Given the description of an element on the screen output the (x, y) to click on. 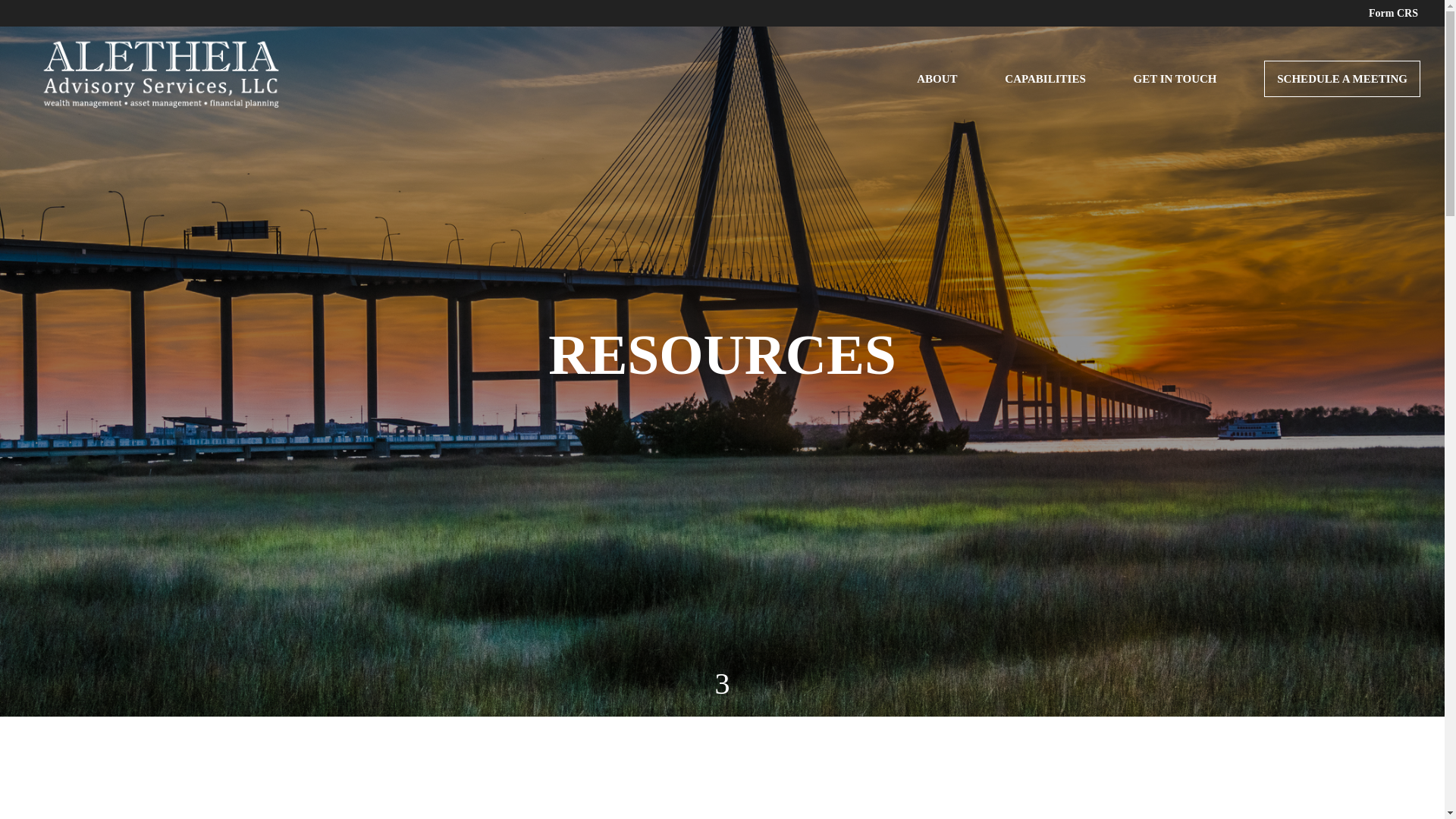
SCHEDULE A MEETING (1342, 78)
CAPABILITIES (1044, 97)
Form CRS (1393, 16)
GET IN TOUCH (1173, 97)
